Given the description of an element on the screen output the (x, y) to click on. 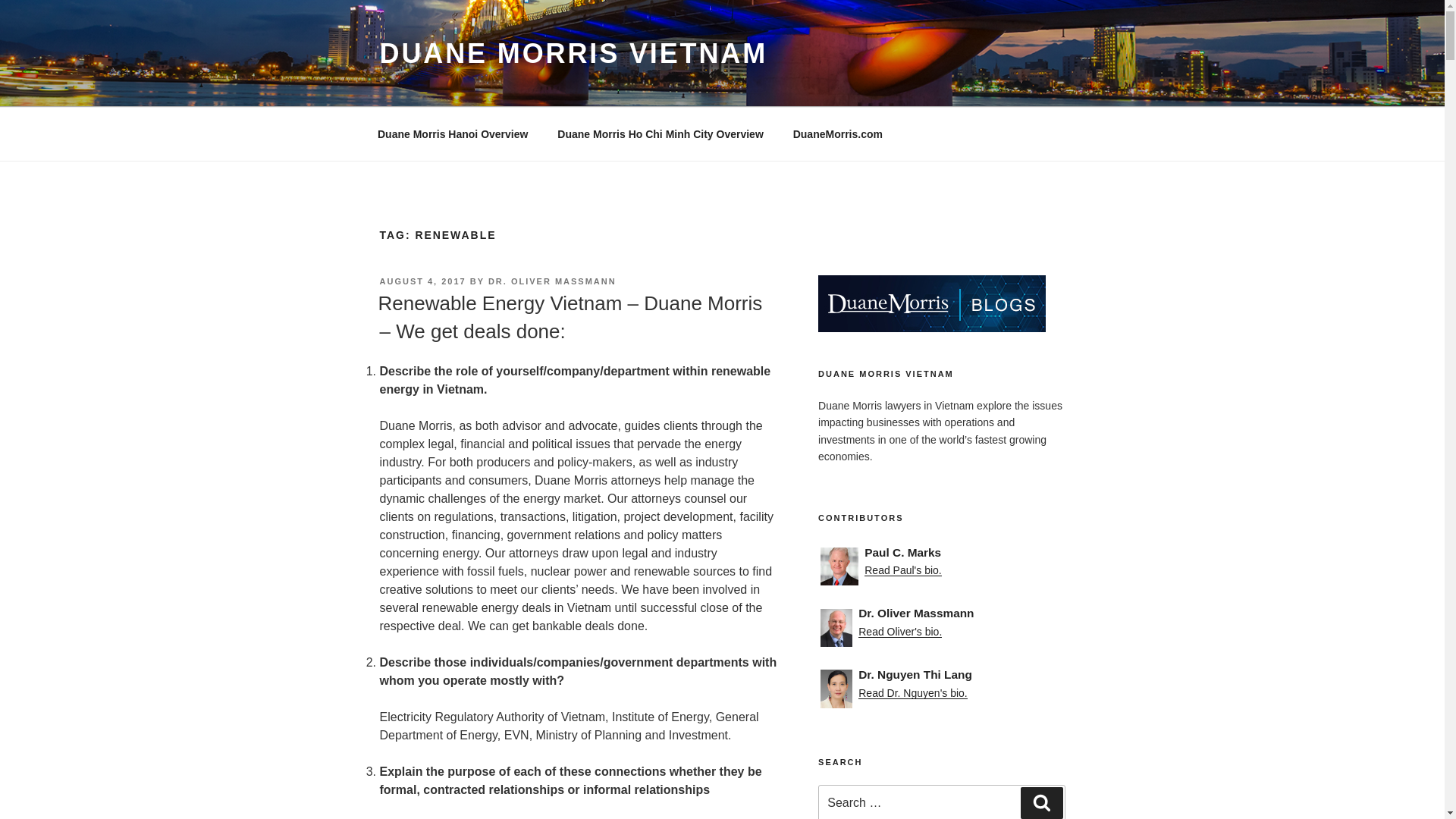
Duane Morris Ho Chi Minh City Overview (660, 133)
DUANE MORRIS VIETNAM (572, 52)
DR. OLIVER MASSMANN (551, 280)
Practice overview on DuaneMorris.com (452, 133)
Duane Morris Hanoi Overview (452, 133)
DuaneMorris.com (836, 133)
Duane Morris LLP firm website (836, 133)
AUGUST 4, 2017 (421, 280)
